Given the description of an element on the screen output the (x, y) to click on. 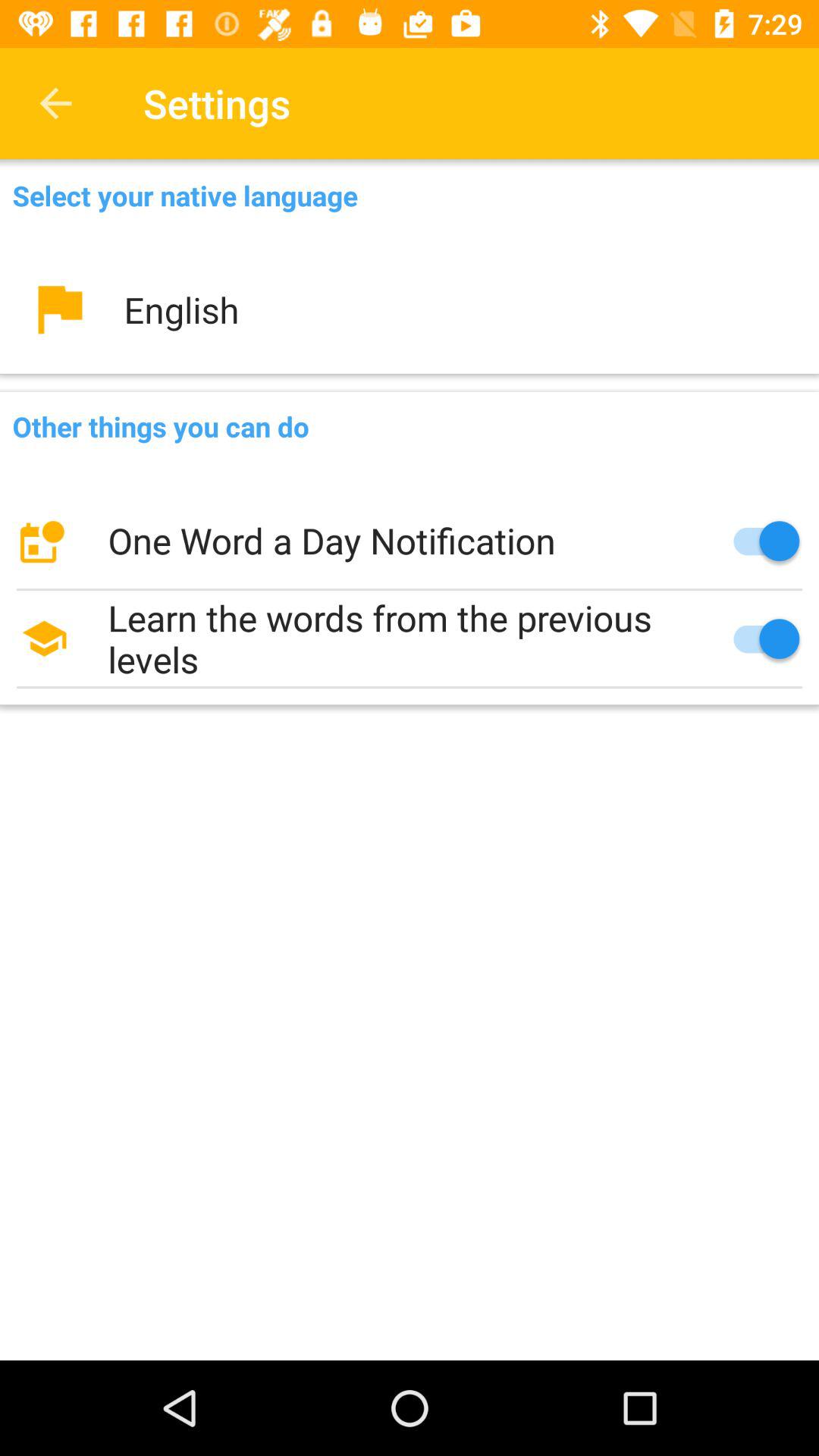
choose the learn the words (409, 638)
